Given the description of an element on the screen output the (x, y) to click on. 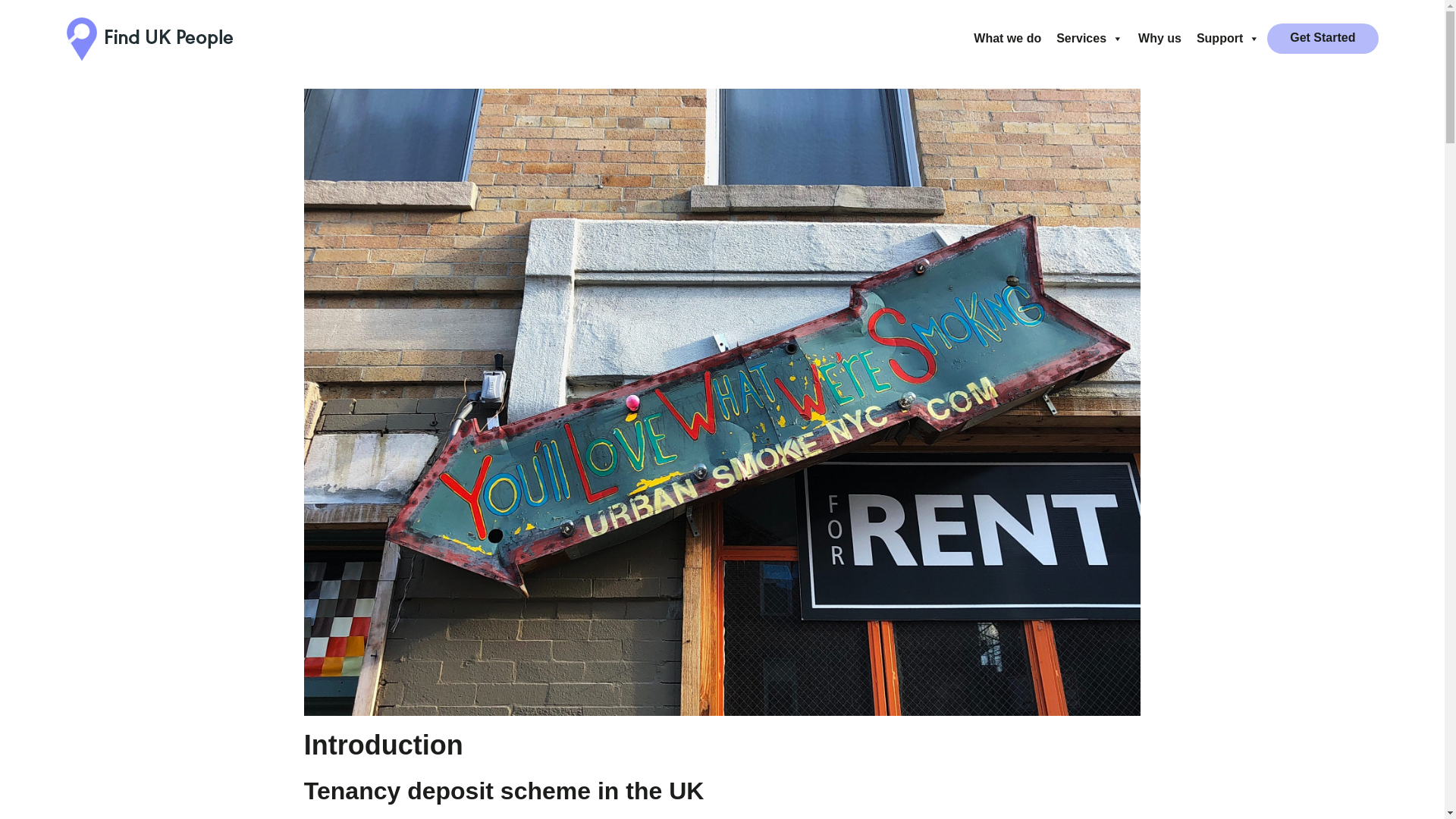
Support (1227, 38)
Why us (1160, 38)
What we do (1007, 38)
Services (1089, 38)
